Given the description of an element on the screen output the (x, y) to click on. 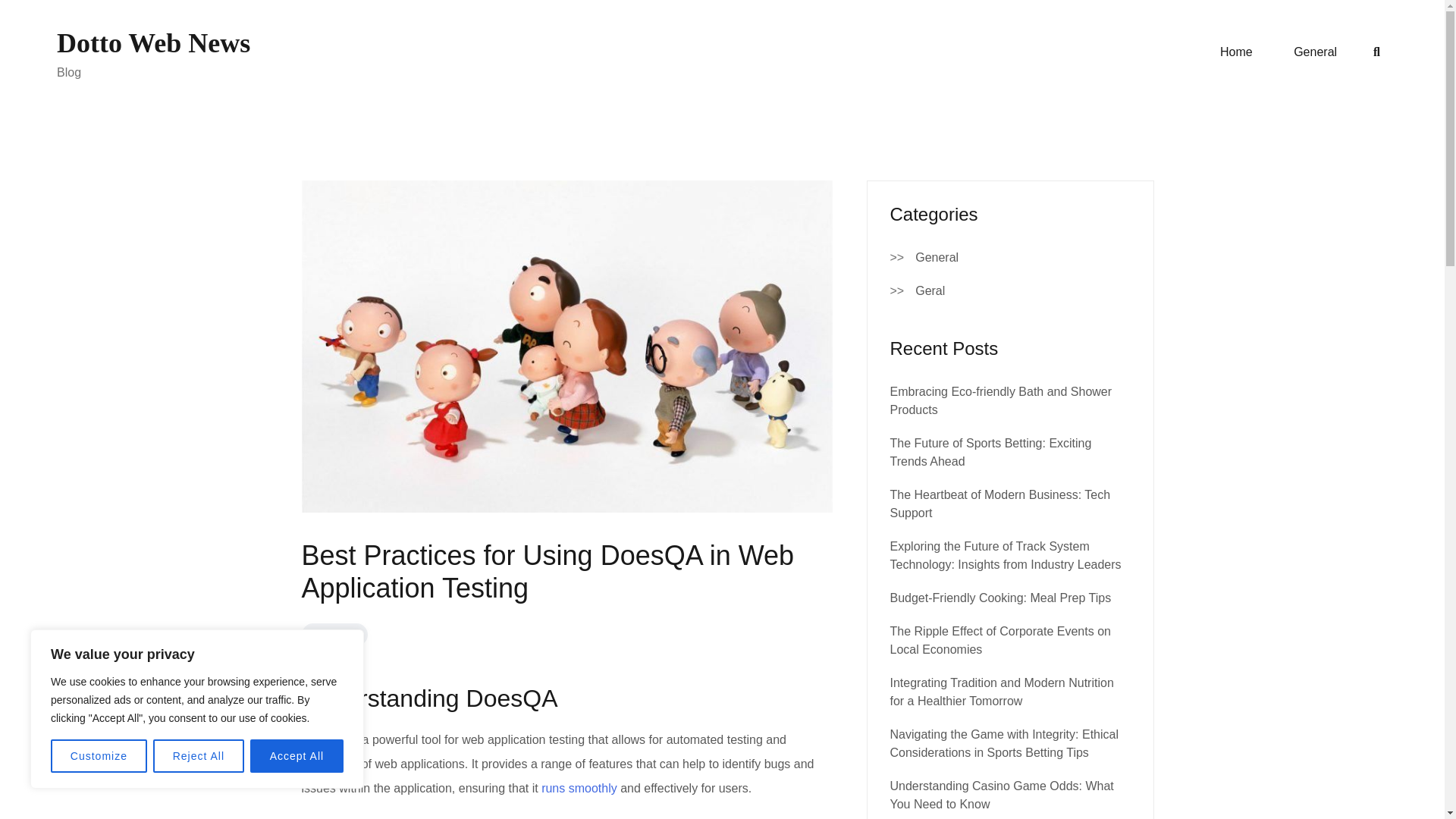
General (1315, 52)
runs smoothly (579, 788)
Geral (929, 290)
Embracing Eco-friendly Bath and Shower Products (1000, 400)
Home (1236, 52)
The Future of Sports Betting: Exciting Trends Ahead (990, 451)
The Heartbeat of Modern Business: Tech Support (999, 503)
Reject All (198, 756)
Accept All (296, 756)
GENERAL (334, 634)
